Given the description of an element on the screen output the (x, y) to click on. 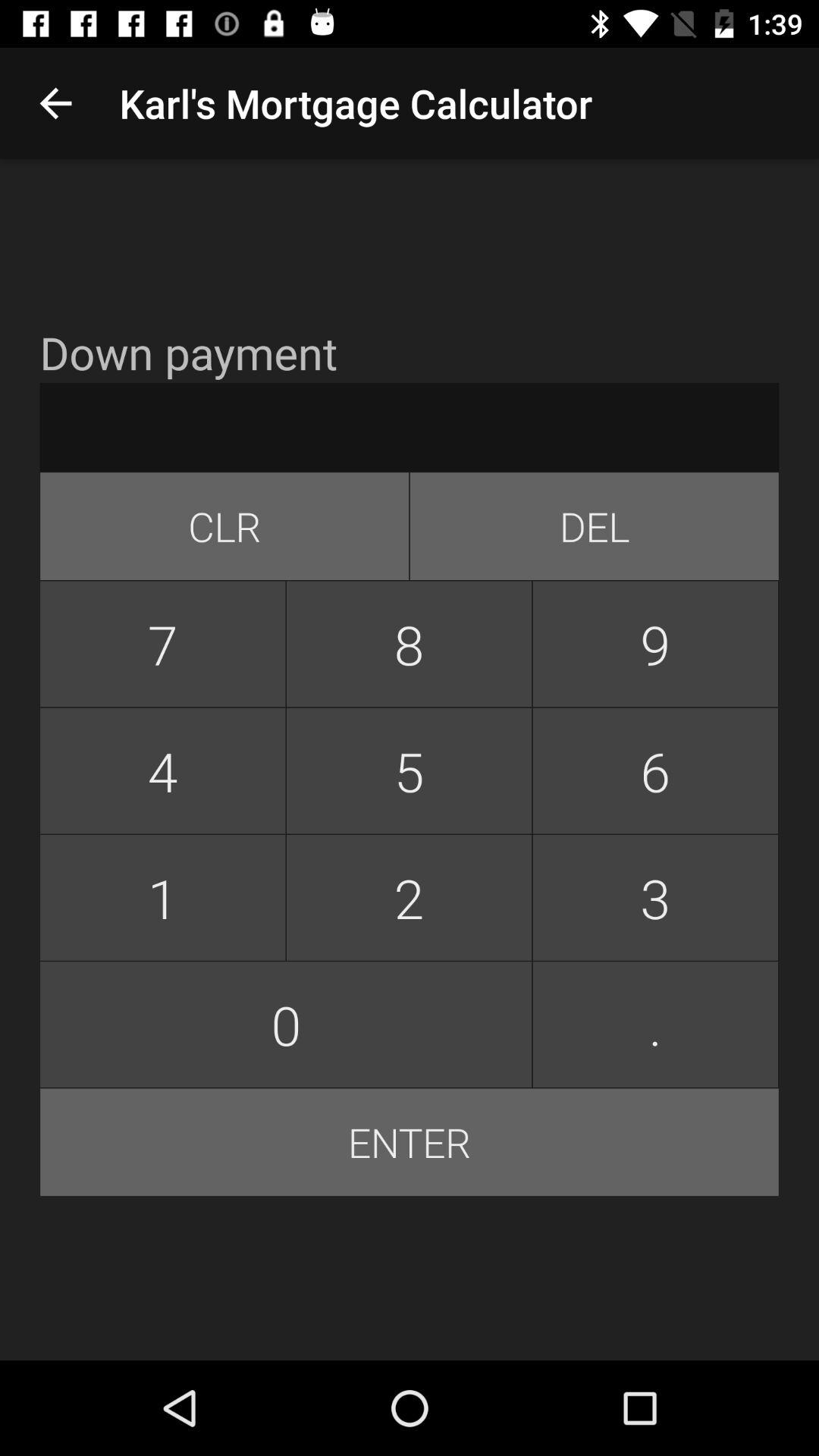
press 5 icon (408, 770)
